Given the description of an element on the screen output the (x, y) to click on. 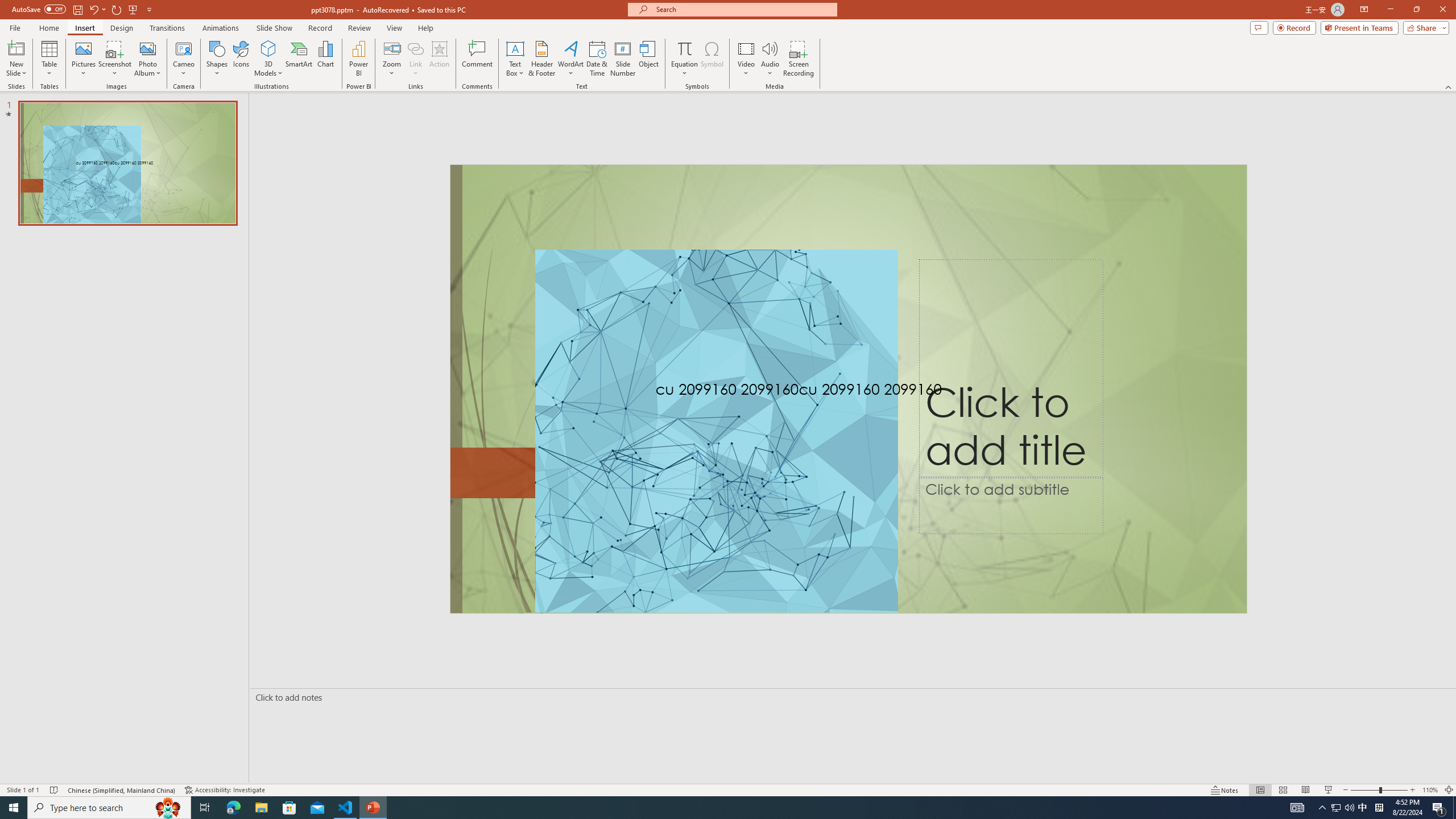
Audio (769, 58)
New Photo Album... (147, 48)
Object... (649, 58)
